Given the description of an element on the screen output the (x, y) to click on. 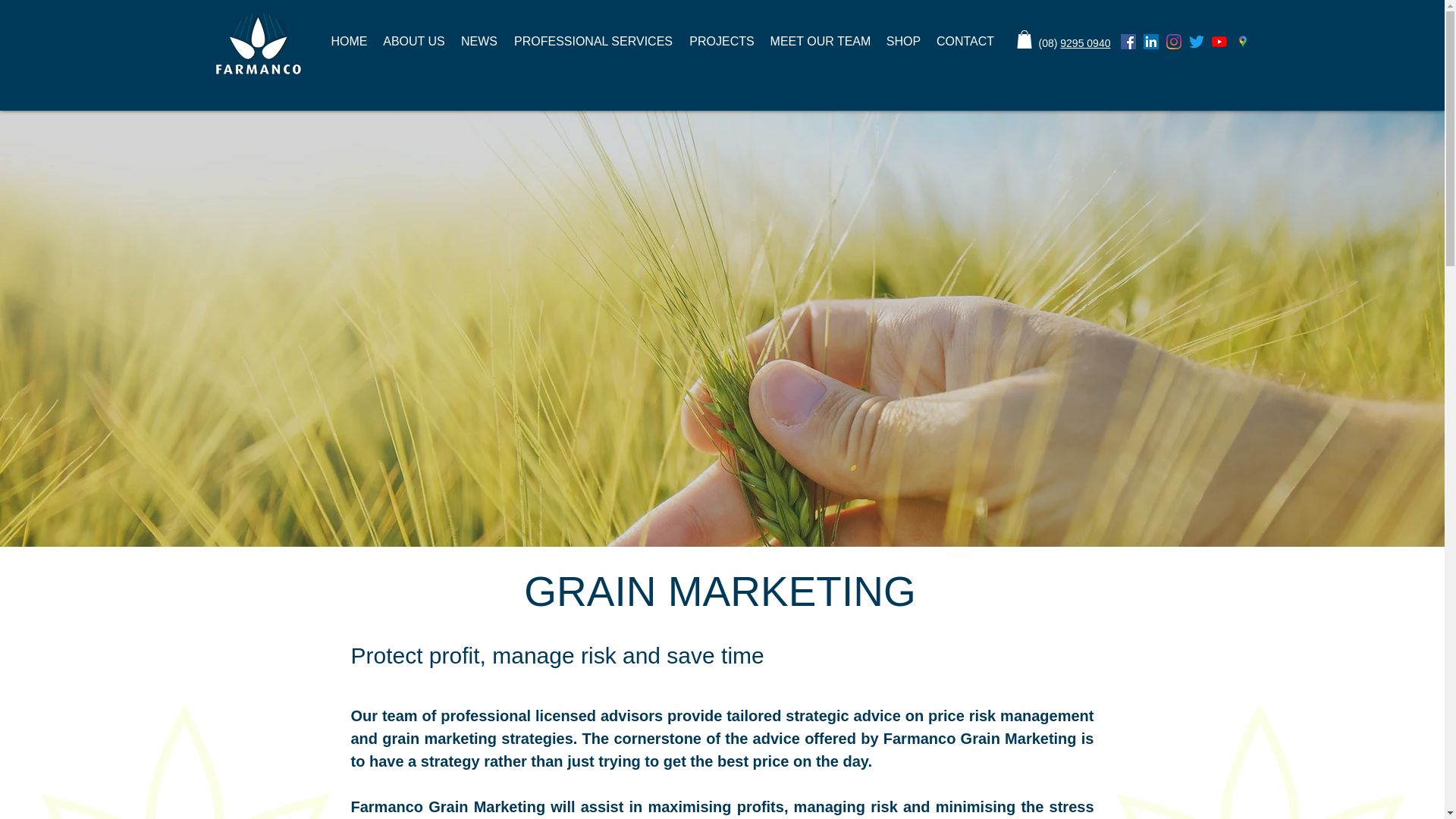
NEWS (478, 41)
9295 0940 (1084, 42)
ABOUT US (413, 41)
HOME (348, 41)
CONTACT (964, 41)
MEET OUR TEAM (820, 41)
PROJECTS (721, 41)
